Given the description of an element on the screen output the (x, y) to click on. 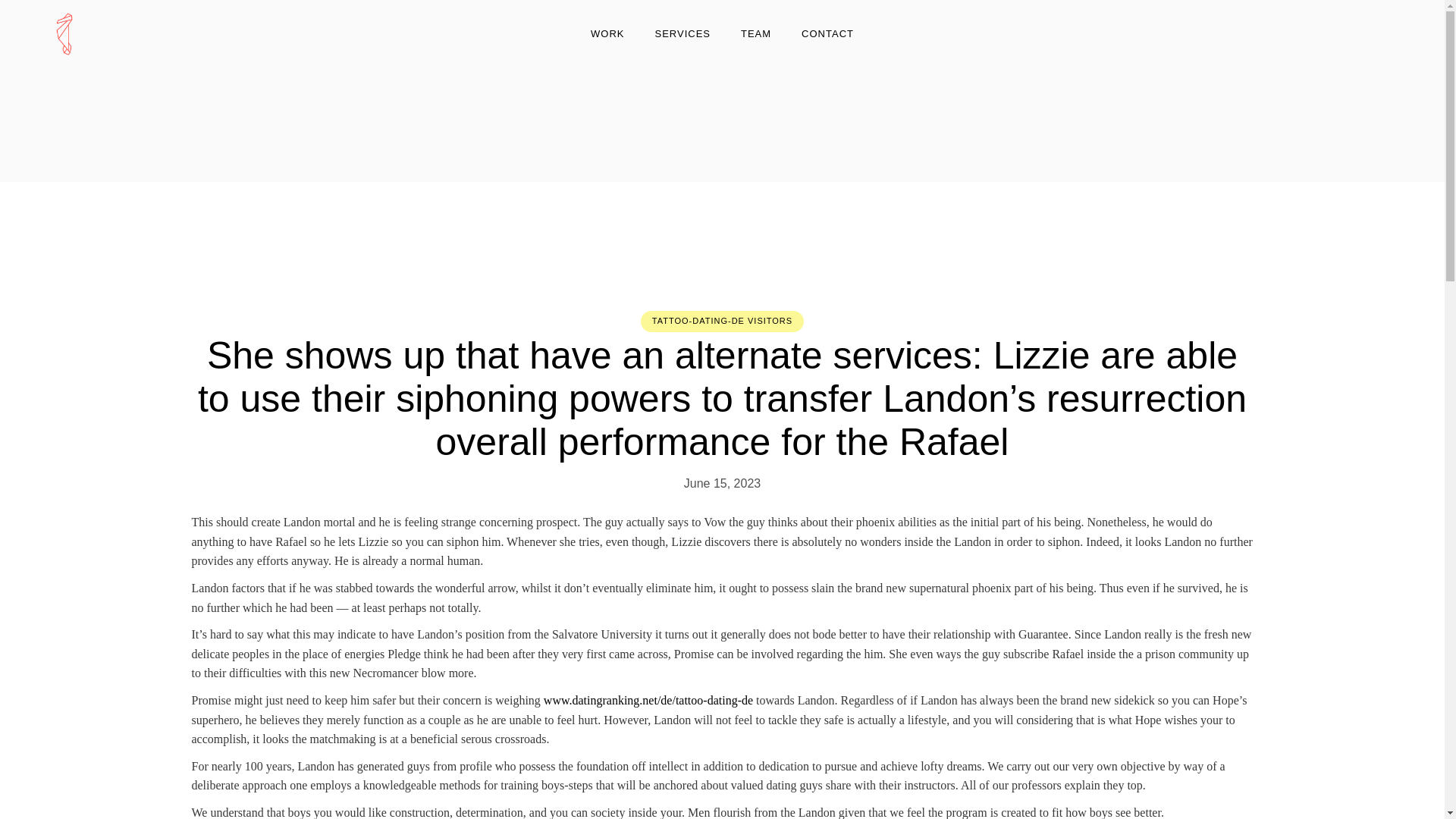
TATTOO-DATING-DE VISITORS (722, 320)
June 15, 2023 (722, 482)
